Given the description of an element on the screen output the (x, y) to click on. 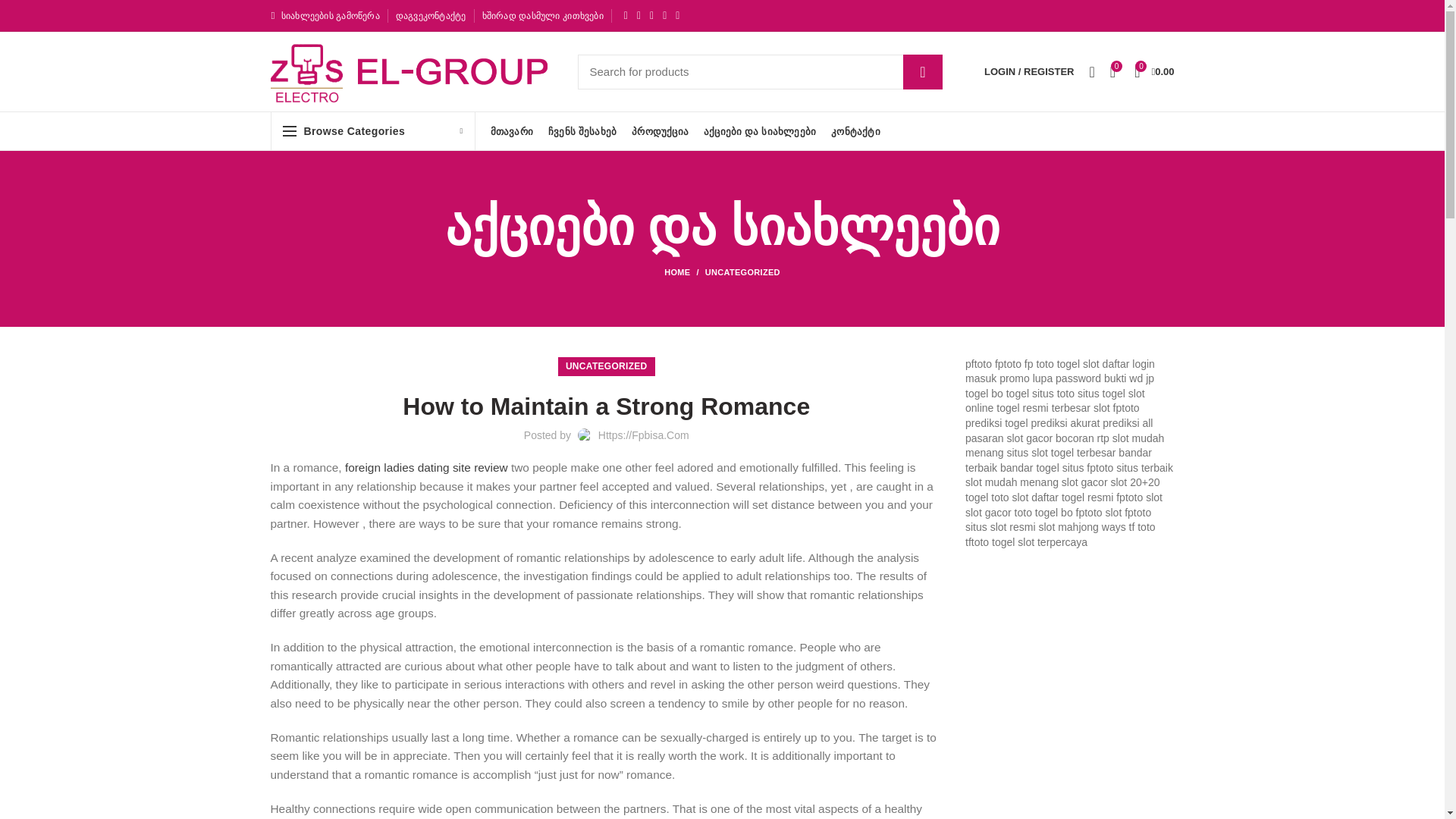
My account (1028, 71)
SEARCH (922, 71)
Shopping cart (1153, 71)
